Given the description of an element on the screen output the (x, y) to click on. 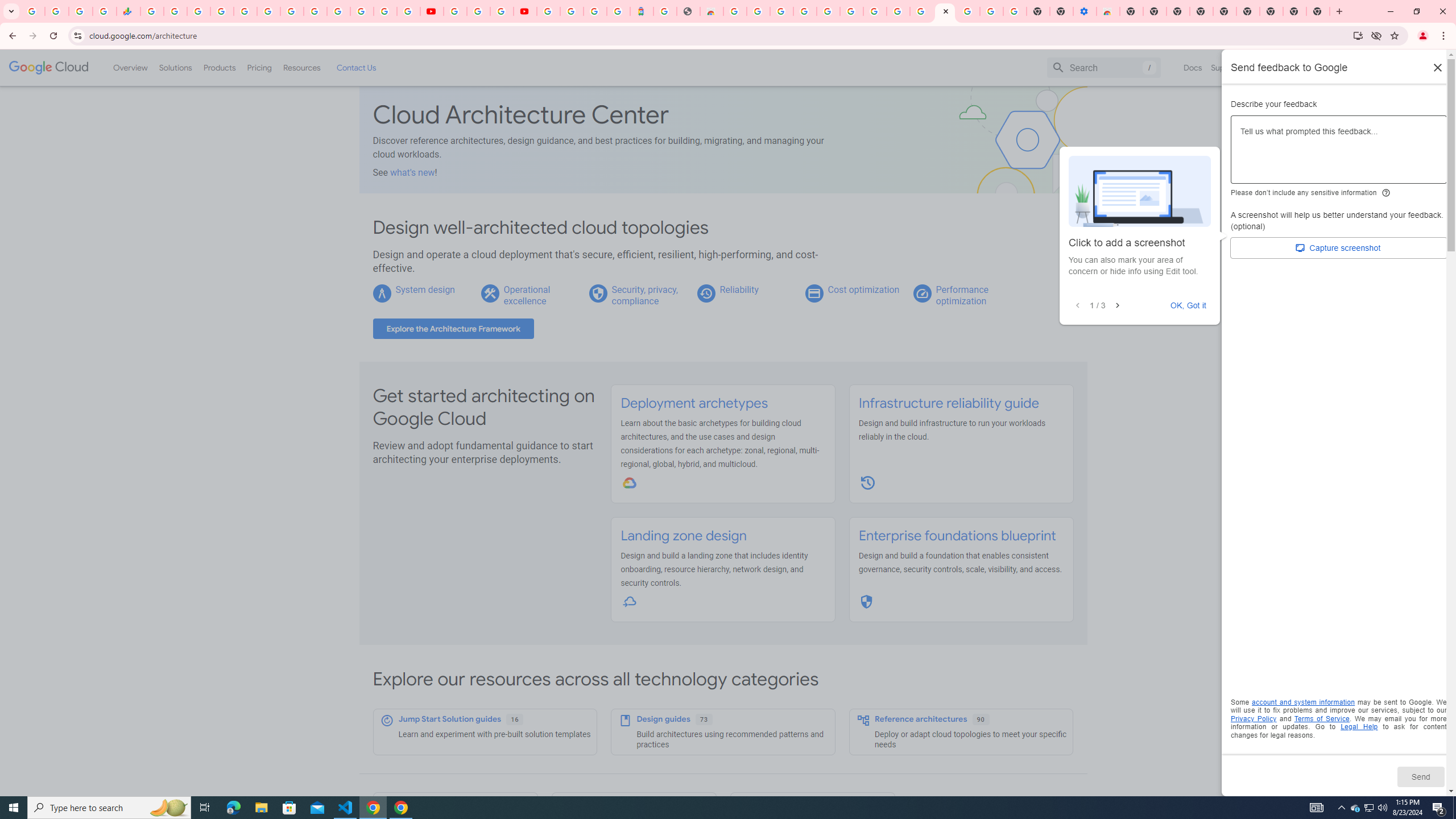
Docs (1192, 67)
Ad Settings (804, 11)
Google Workspace Admin Community (32, 11)
Previous (1077, 305)
YouTube (454, 11)
YouTube (431, 11)
Sign in - Google Accounts (338, 11)
